Given the description of an element on the screen output the (x, y) to click on. 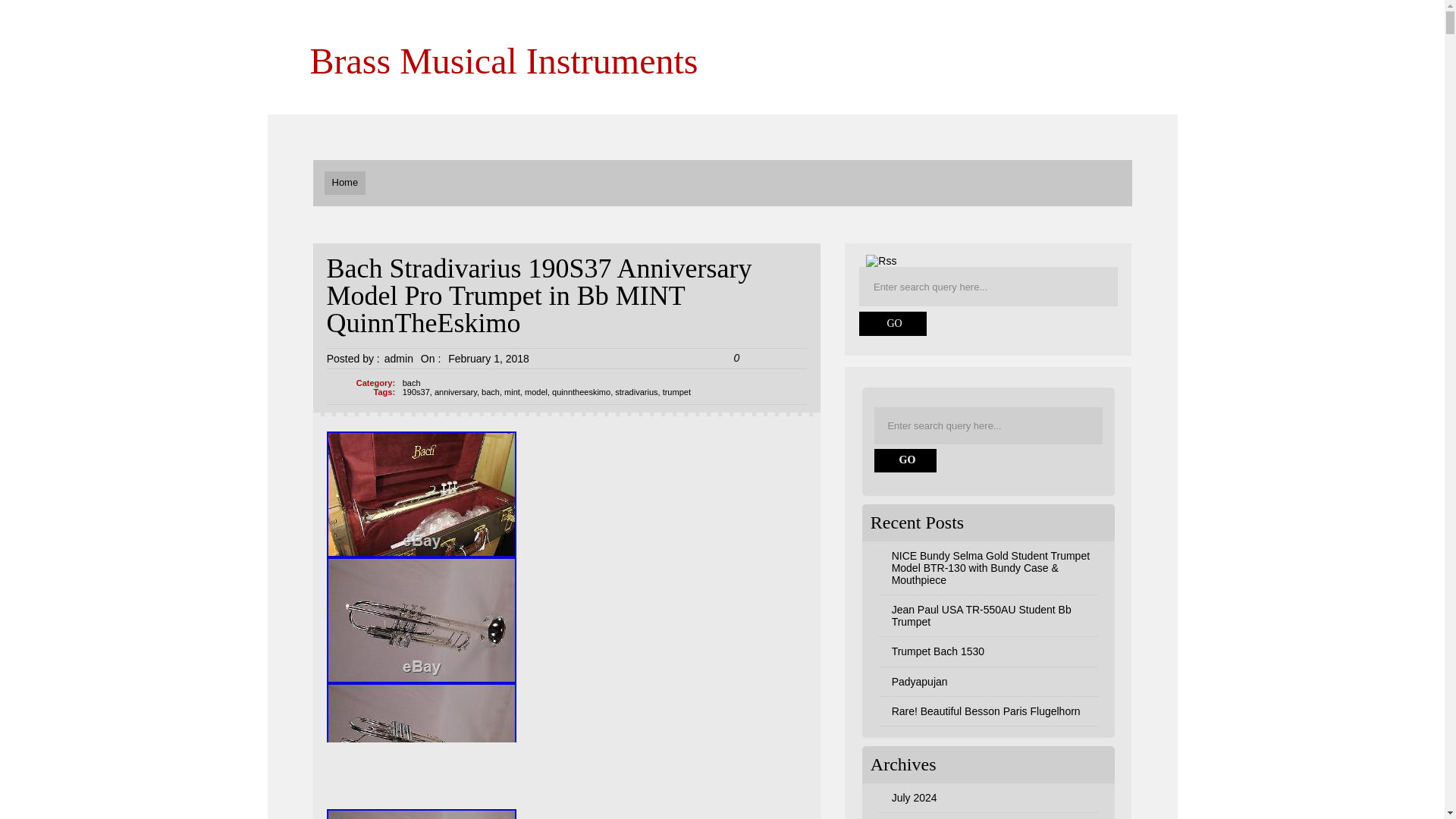
Enter search query here... (989, 425)
bach (490, 391)
bach (411, 382)
Enter search query here... (989, 286)
trumpet (676, 391)
Trumpet Bach 1530 (937, 651)
mint (511, 391)
stradivarius (636, 391)
Go (893, 323)
anniversary (455, 391)
July 2024 (914, 797)
model (535, 391)
